Given the description of an element on the screen output the (x, y) to click on. 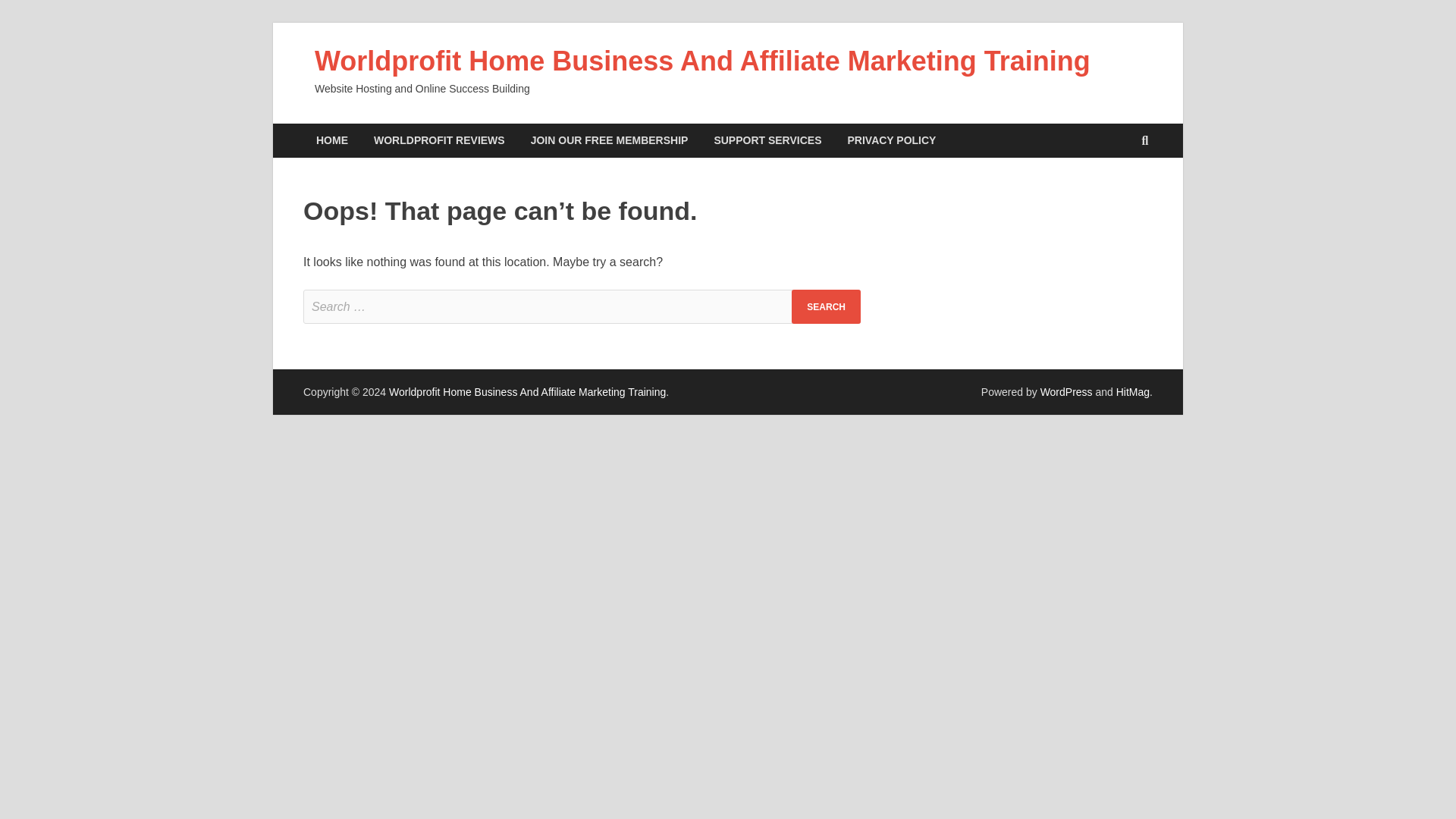
Search (826, 306)
Search (826, 306)
SUPPORT SERVICES (767, 140)
HOME (331, 140)
Worldprofit Home Business And Affiliate Marketing Training (702, 60)
PRIVACY POLICY (891, 140)
WORLDPROFIT REVIEWS (439, 140)
JOIN OUR FREE MEMBERSHIP (609, 140)
Search (826, 306)
